Given the description of an element on the screen output the (x, y) to click on. 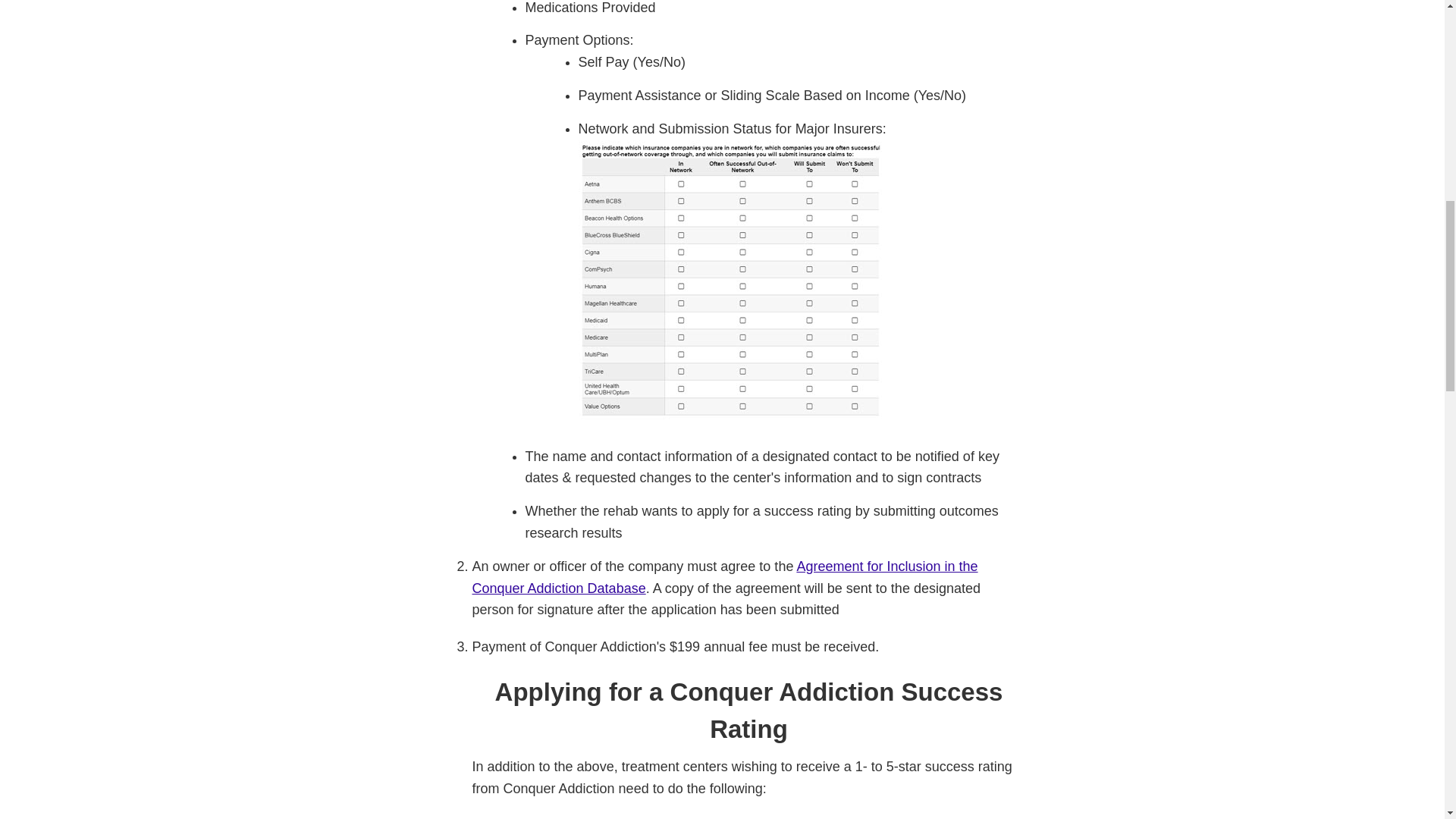
Agreement for Inclusion in the Conquer Addiction Database (723, 577)
